Given the description of an element on the screen output the (x, y) to click on. 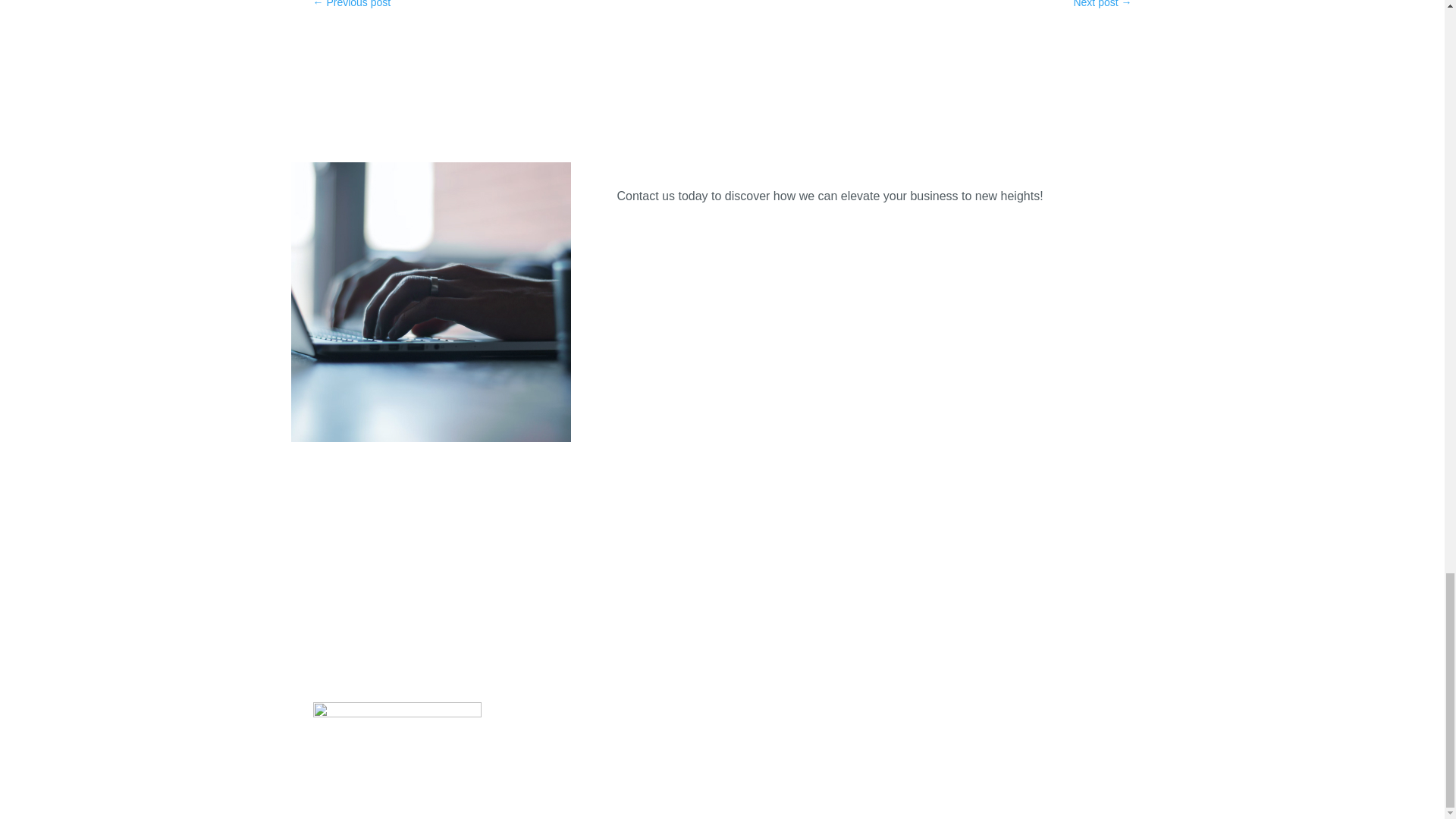
Terms and Conditions (722, 617)
Follow on Twitter (721, 661)
Contact us (670, 236)
Follow on Facebook (691, 661)
Cookie Policy (828, 617)
Follow on LinkedIn (751, 661)
pic-contactus (430, 302)
Privacy Policy (617, 617)
accredited (396, 729)
